Given the description of an element on the screen output the (x, y) to click on. 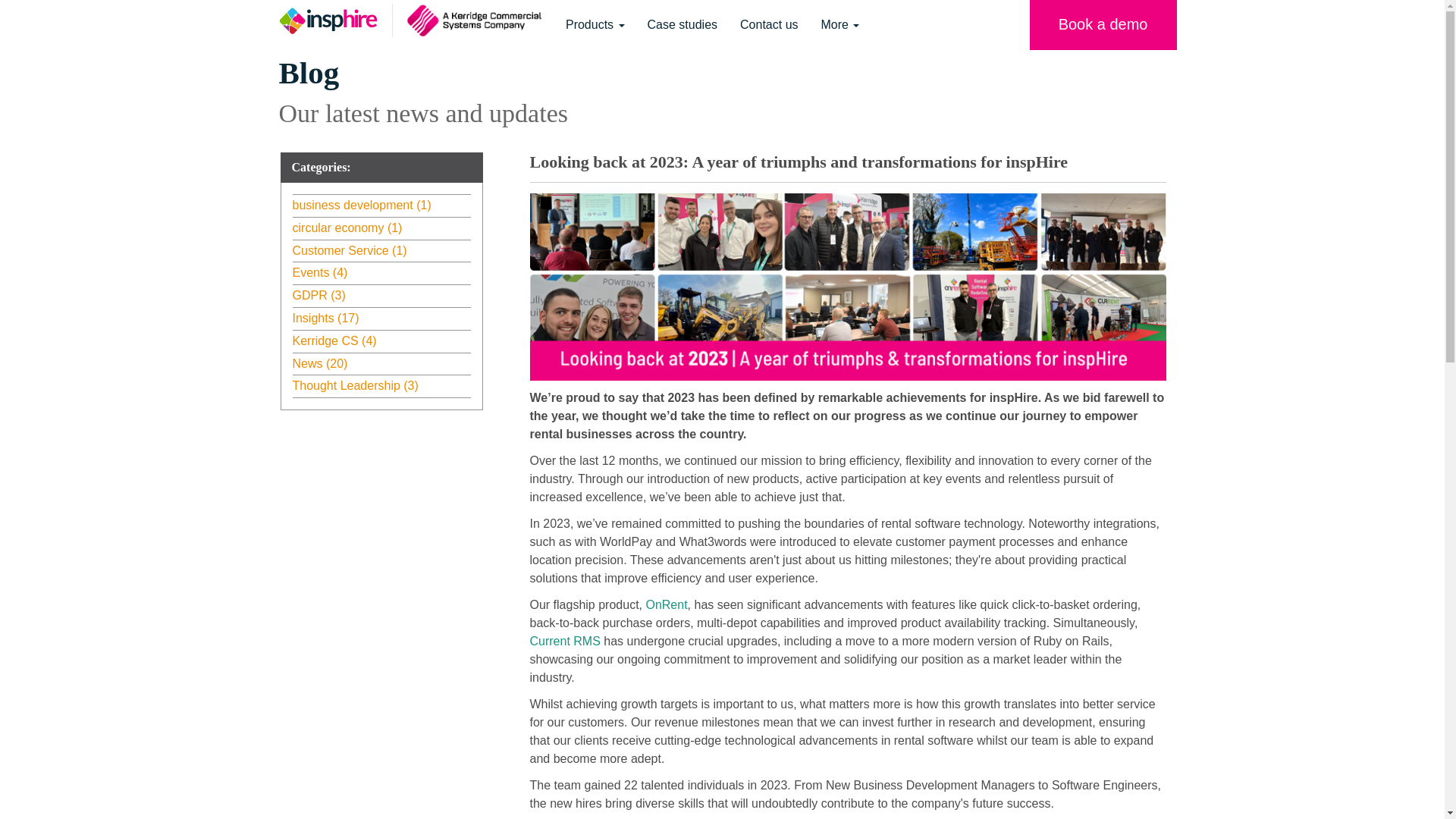
Book a demo (1103, 25)
Contact us (769, 24)
OnRent (666, 604)
More (839, 24)
Current RMS (564, 640)
Products   (595, 24)
Case studies (682, 24)
